Given the description of an element on the screen output the (x, y) to click on. 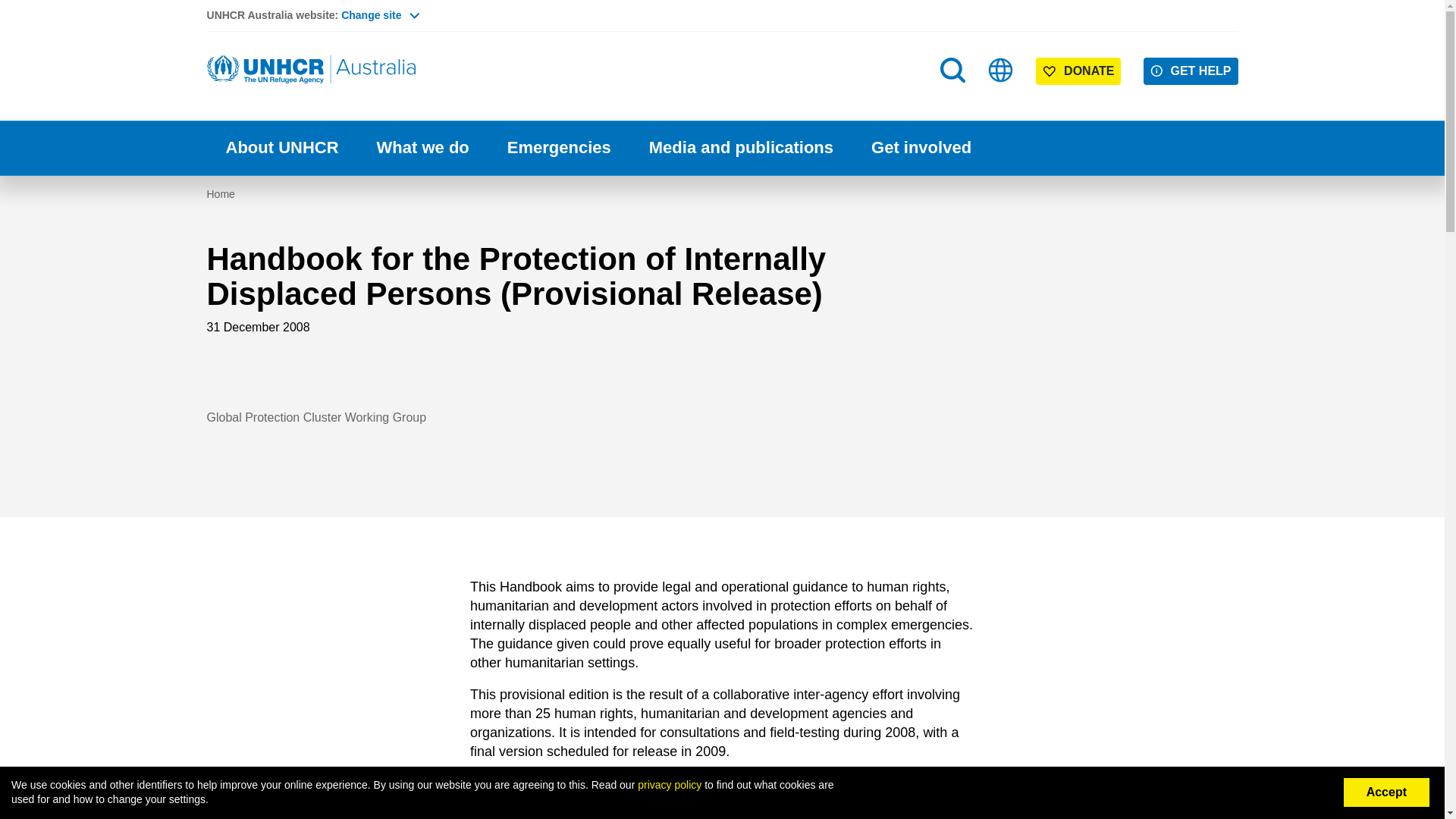
DONATE (1078, 71)
About UNHCR (281, 148)
Search (954, 99)
GET HELP (1189, 71)
Change site (379, 15)
Skip to main content (721, 1)
Sites (1000, 69)
Home (312, 69)
Search (952, 69)
